Given the description of an element on the screen output the (x, y) to click on. 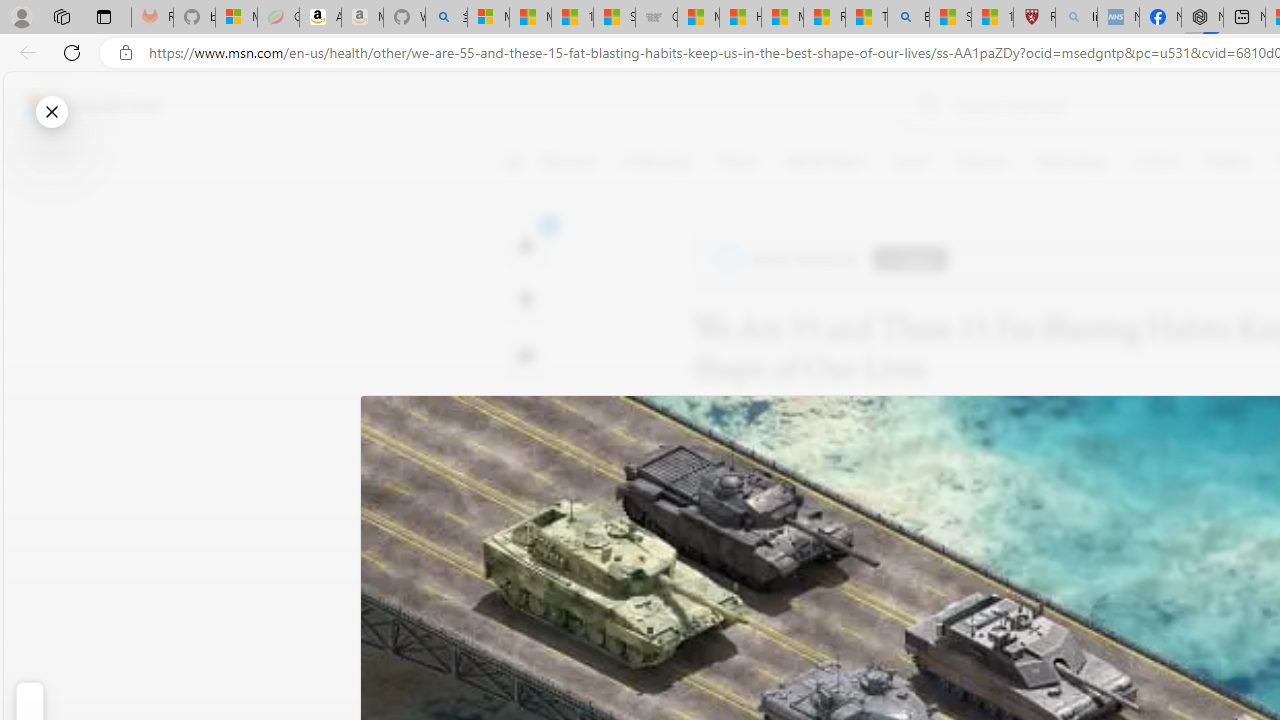
Share this story (525, 412)
